Given the description of an element on the screen output the (x, y) to click on. 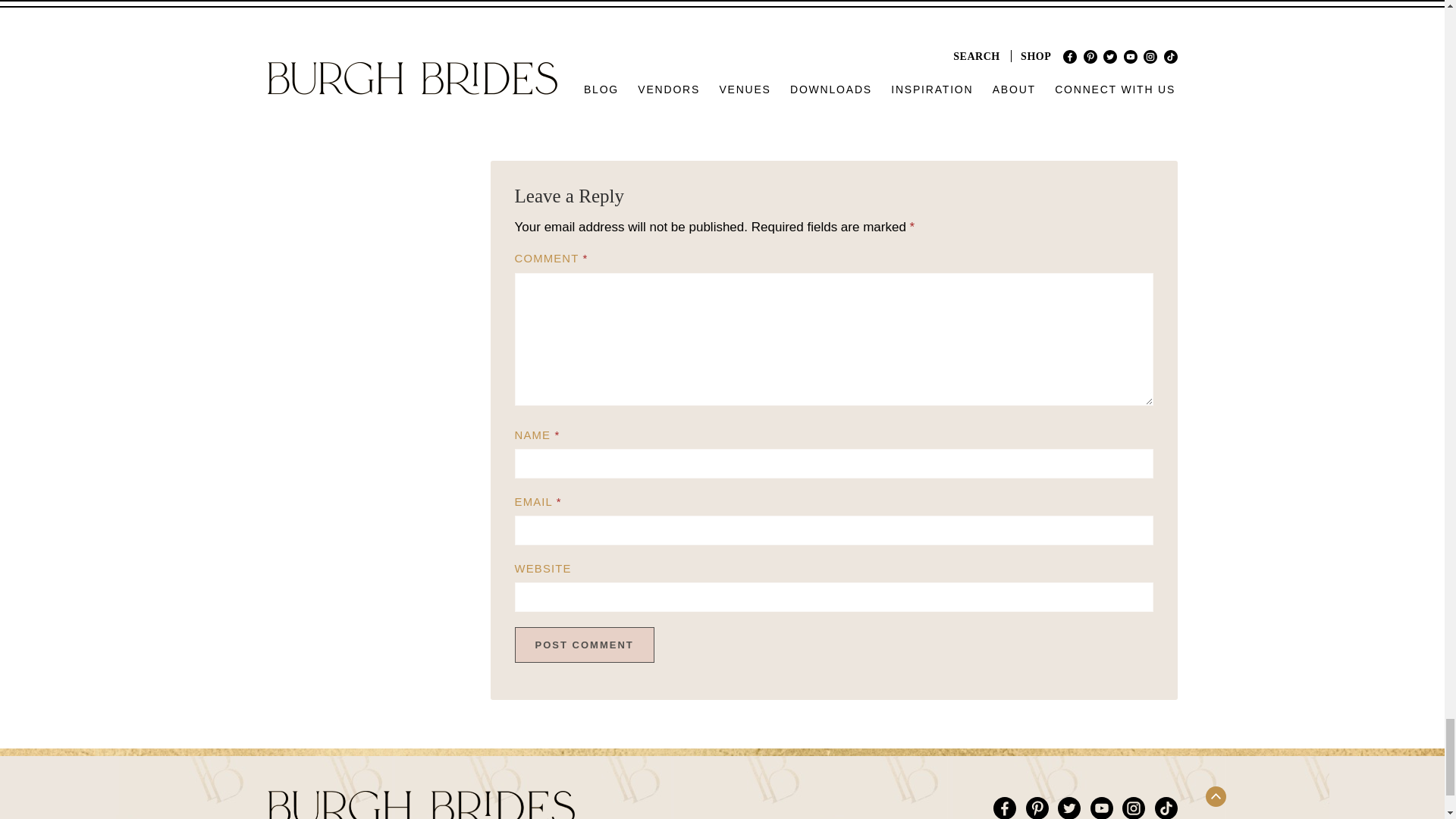
Post Comment (584, 644)
